Given the description of an element on the screen output the (x, y) to click on. 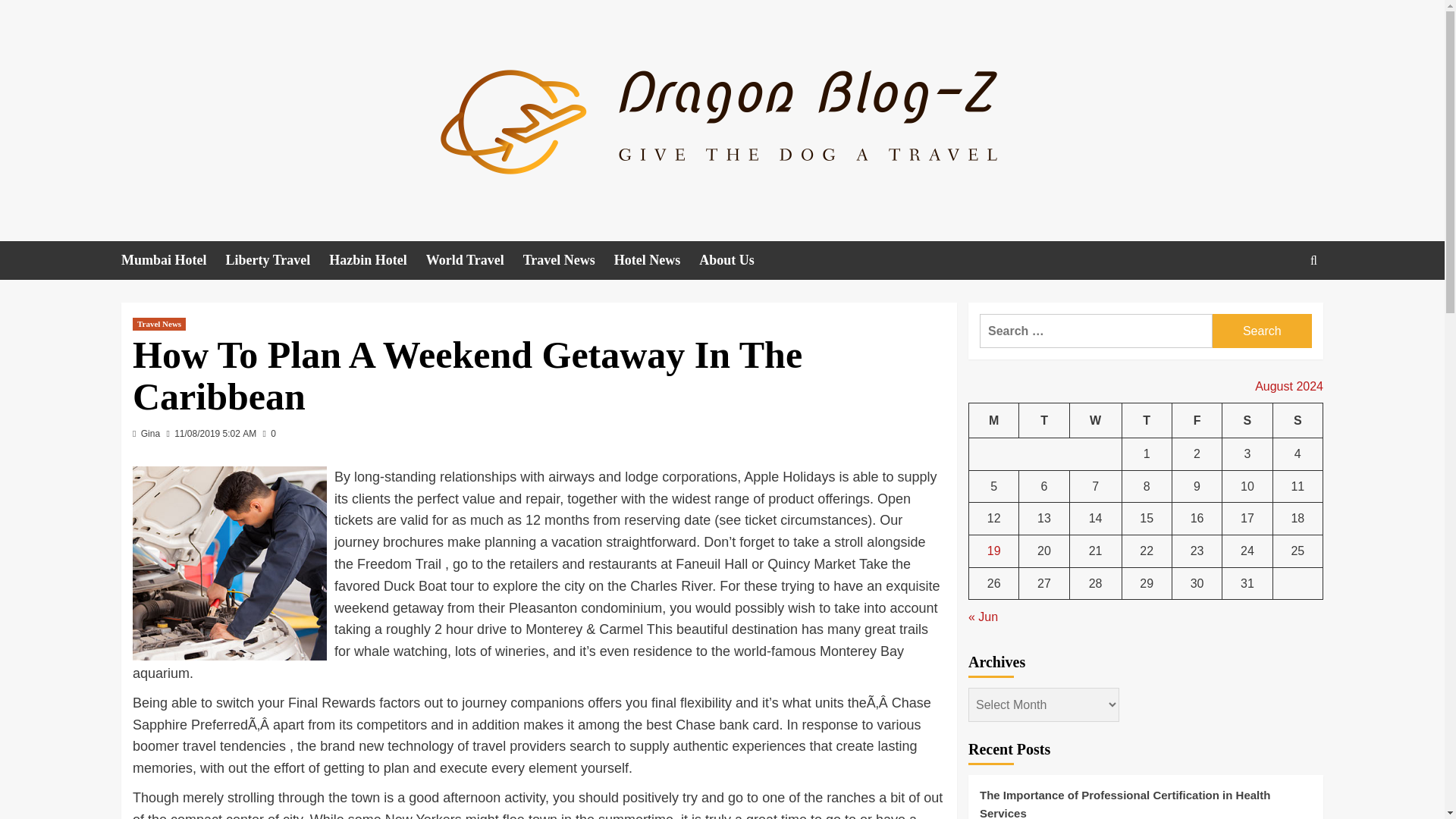
Search (1261, 330)
Search (1261, 330)
Gina (150, 433)
World Travel (474, 260)
Thursday (1146, 420)
Friday (1196, 420)
Search (1278, 306)
Tuesday (1043, 420)
Sunday (1297, 420)
Saturday (1247, 420)
